Given the description of an element on the screen output the (x, y) to click on. 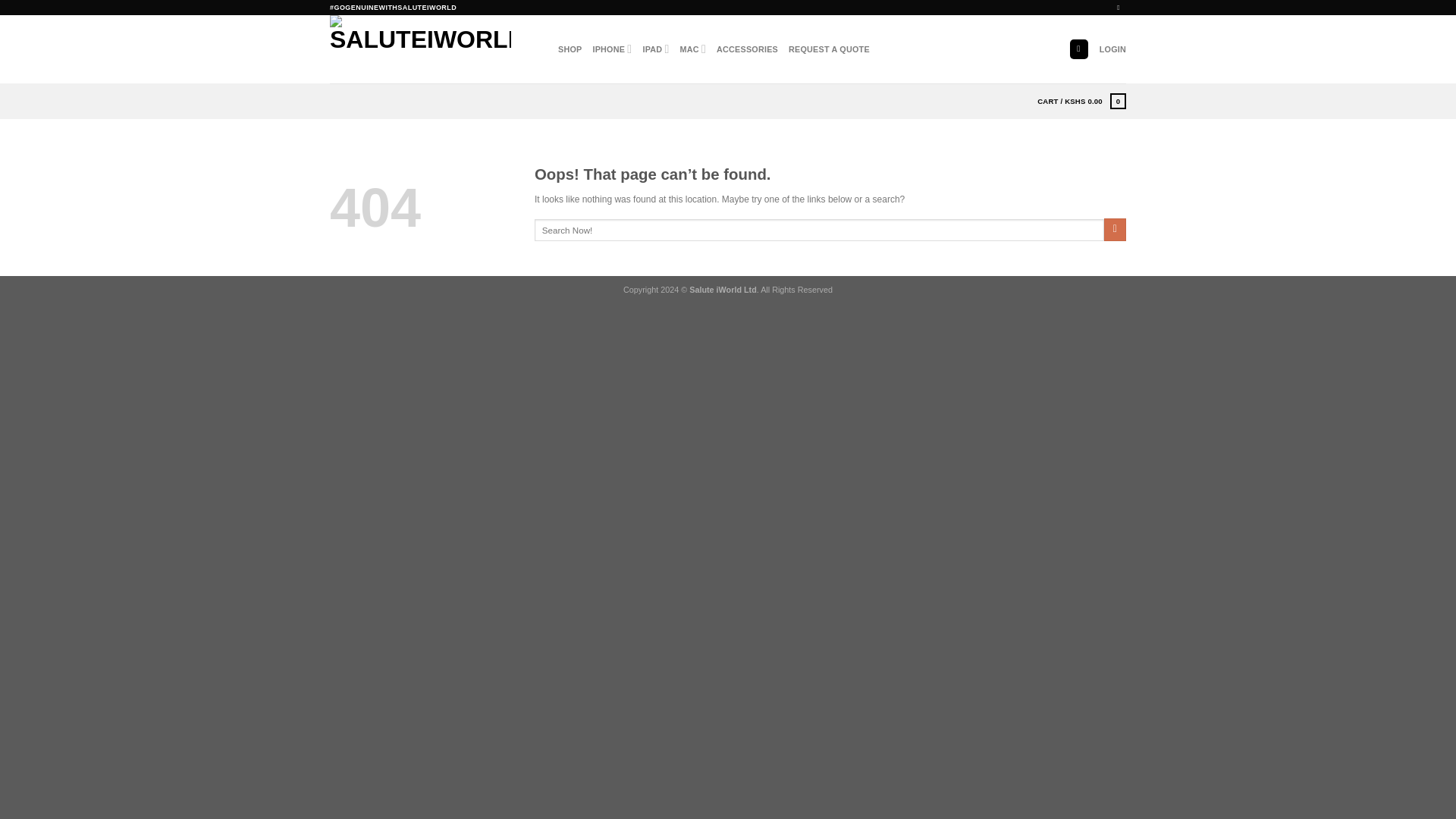
IPHONE (611, 48)
REQUEST A QUOTE (829, 49)
ACCESSORIES (746, 49)
Cart (1080, 100)
Login (1112, 49)
Send us an email (1120, 7)
IPAD (655, 48)
SHOP (568, 49)
MAC (692, 48)
